Given the description of an element on the screen output the (x, y) to click on. 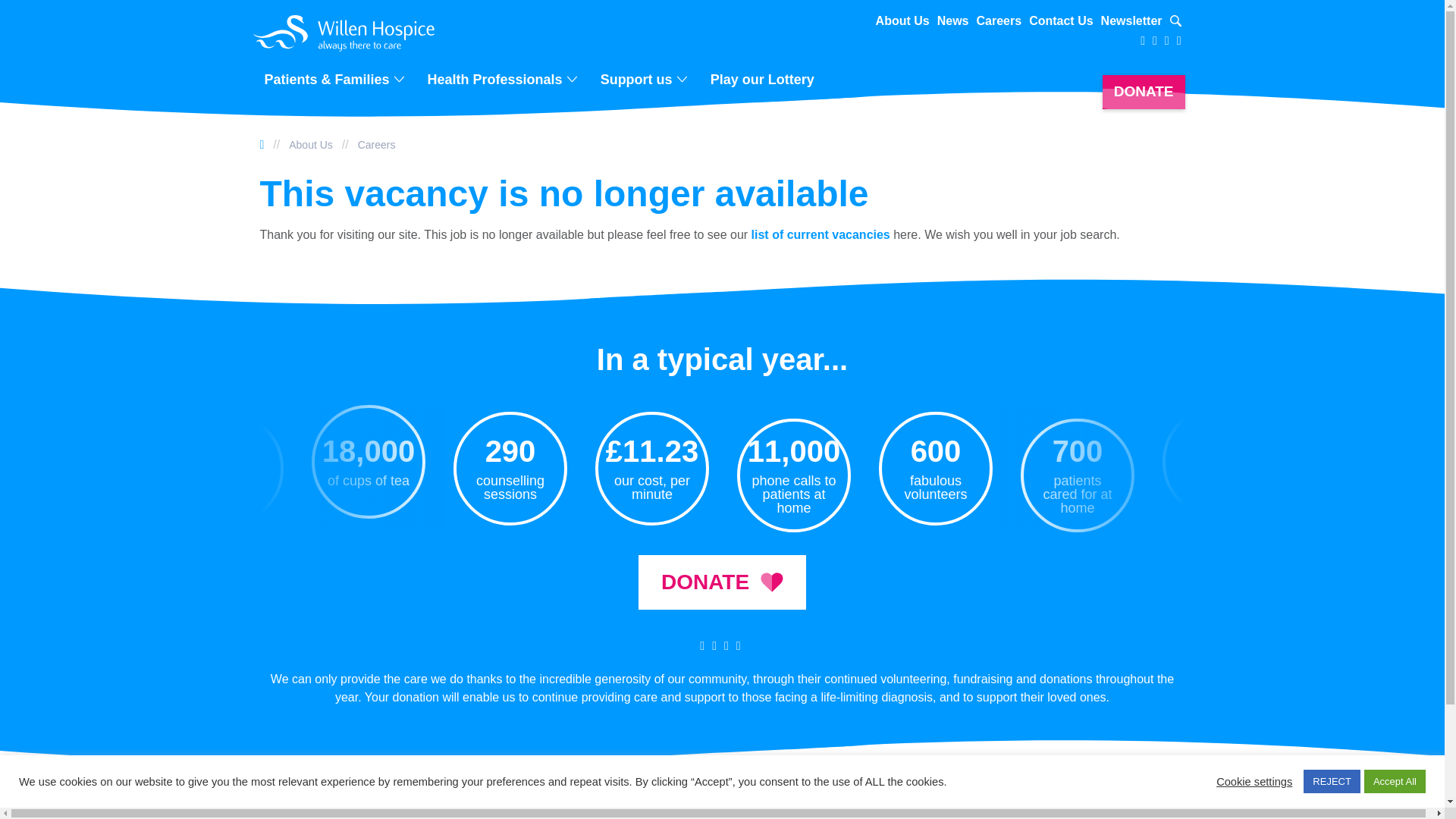
Support us (639, 79)
News (953, 21)
GO (1166, 22)
Careers (999, 21)
Donate (722, 582)
Play our Lottery (762, 79)
Contact Us (1061, 21)
About Us (310, 144)
Health Professionals (497, 79)
DONATE (1143, 91)
Careers (377, 144)
Newsletter (1130, 21)
About Us (903, 21)
